Given the description of an element on the screen output the (x, y) to click on. 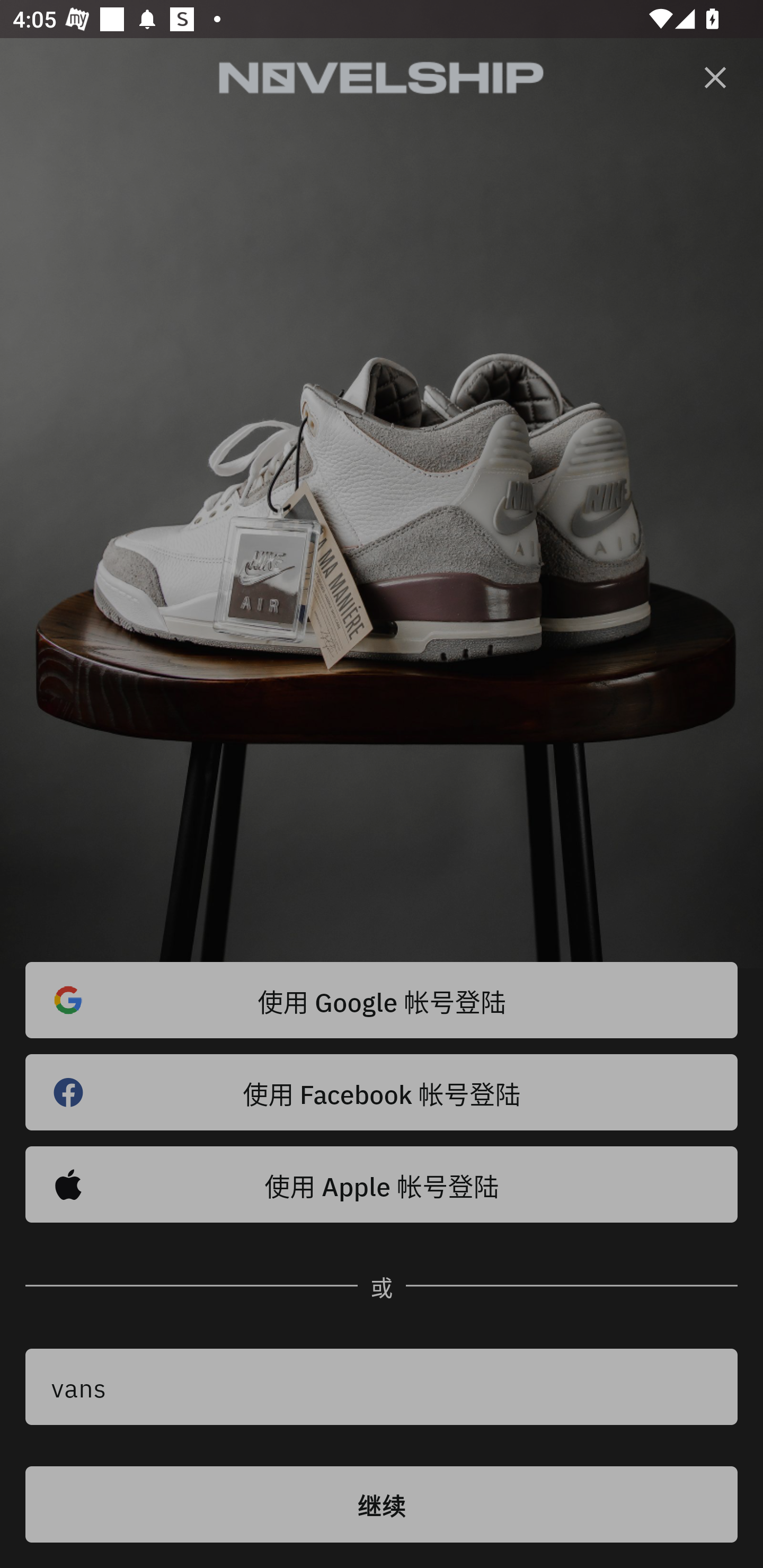
使用 Google 帐号登陆 (381, 1000)
使用 Facebook 帐号登陆 󰈌 (381, 1091)
 使用 Apple 帐号登陆 (381, 1184)
vans (381, 1386)
继续 (381, 1504)
